Given the description of an element on the screen output the (x, y) to click on. 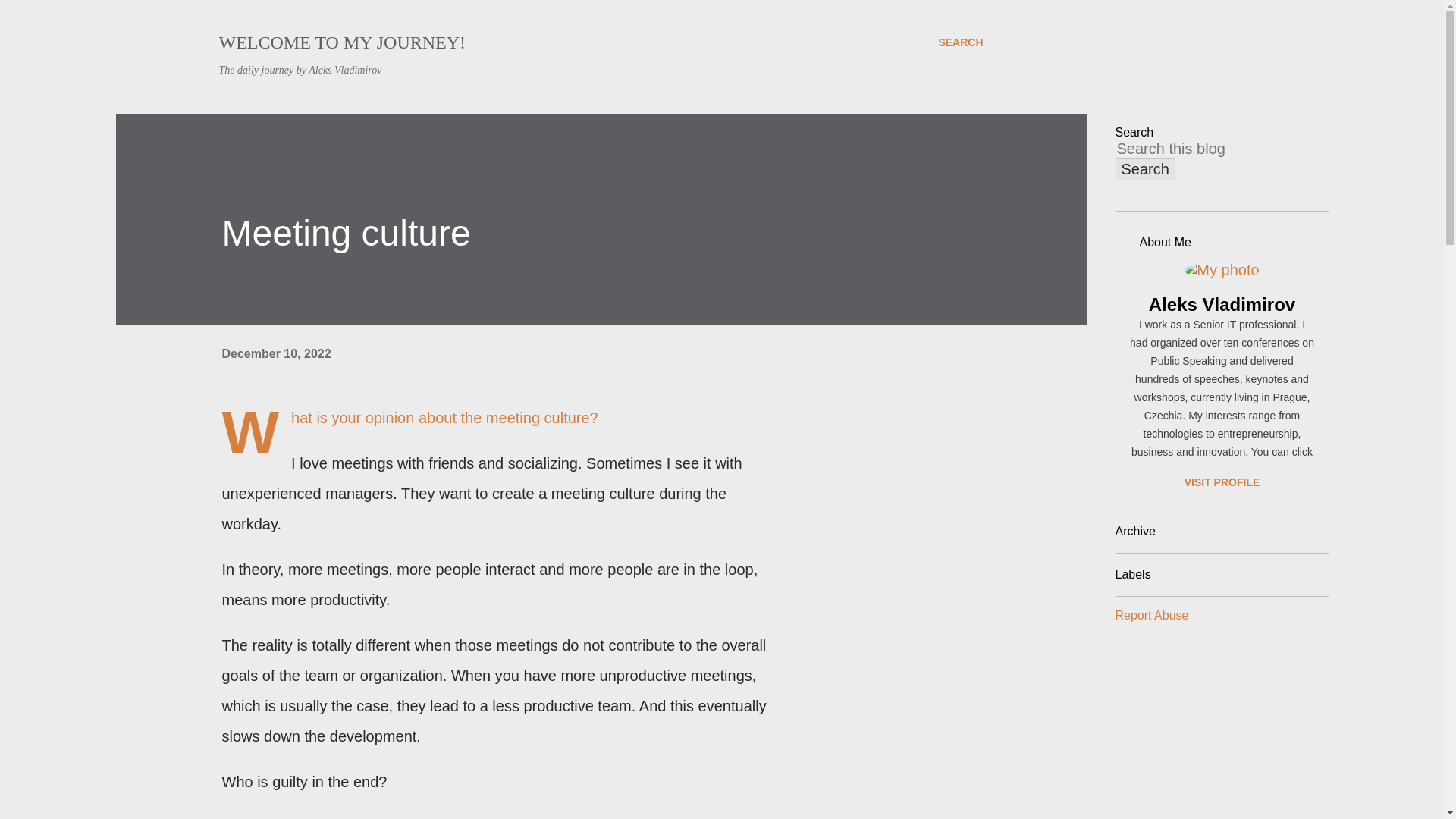
WELCOME TO MY JOURNEY! (341, 42)
Search (1144, 169)
Search (1144, 169)
Search (1144, 169)
December 10, 2022 (275, 353)
permanent link (275, 353)
SEARCH (959, 42)
Aleks Vladimirov (1221, 304)
